Given the description of an element on the screen output the (x, y) to click on. 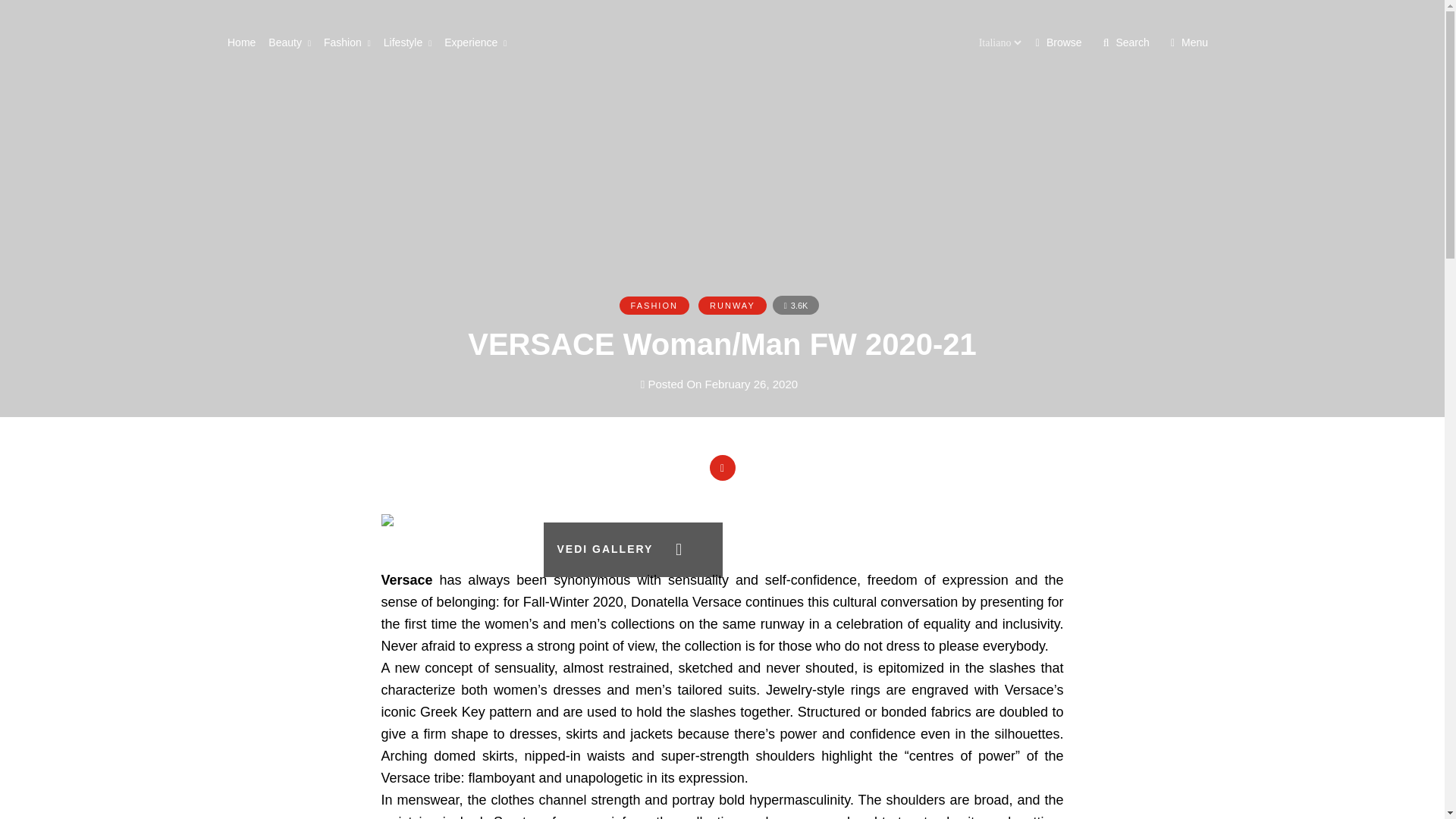
Beauty (293, 41)
Experience (479, 41)
Fashion (351, 41)
Lifestyle (412, 41)
